Given the description of an element on the screen output the (x, y) to click on. 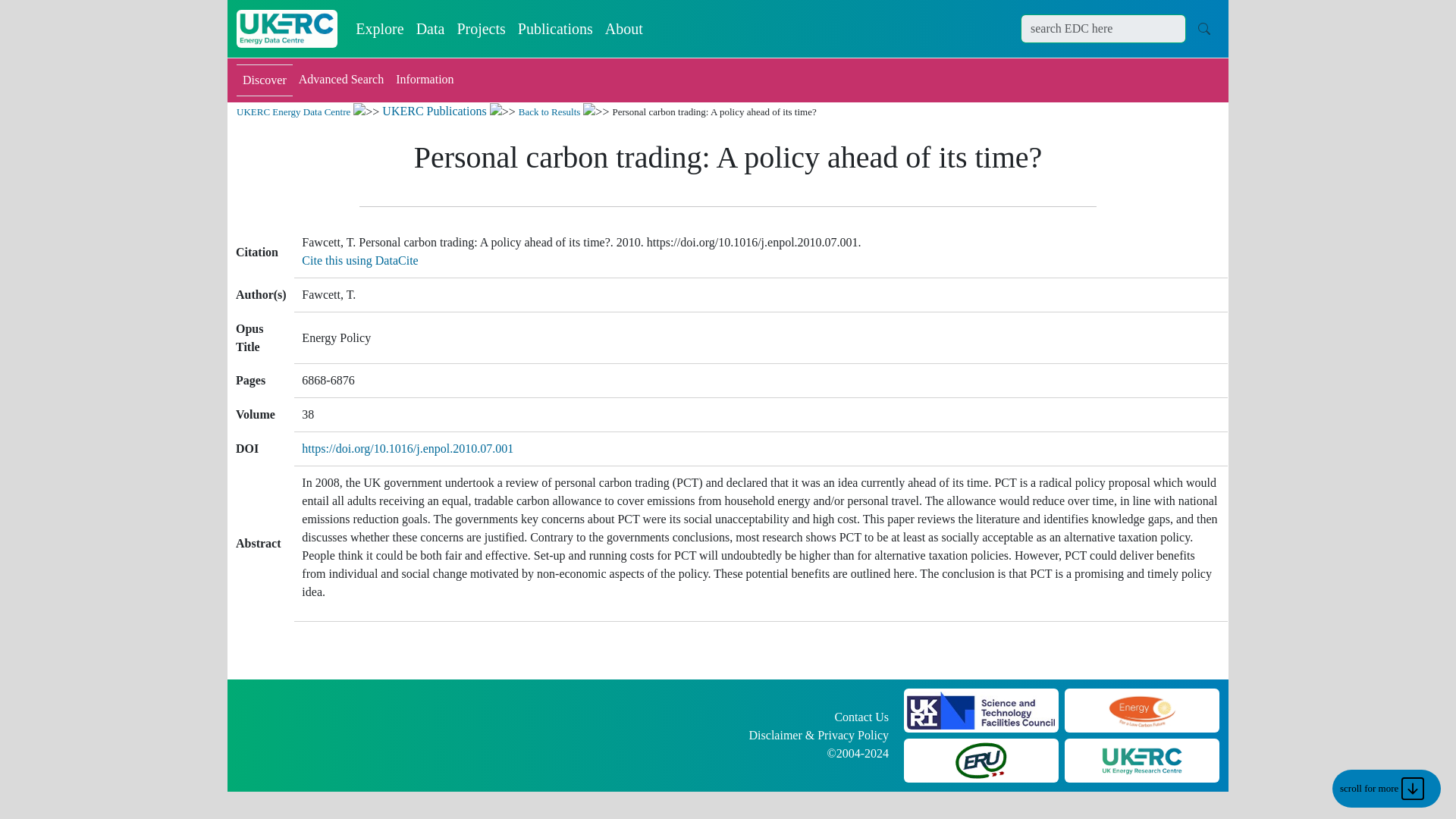
Explore (379, 28)
Information (425, 80)
Go (1204, 27)
Contact Us (861, 716)
Cite this using DataCite (359, 259)
Data (430, 28)
Advanced Search (341, 80)
Publications (555, 28)
Privacy Policy (852, 735)
Back to Results (549, 111)
UKERC Energy Data Centre (292, 111)
UKERC Publications (433, 110)
About (623, 28)
Projects (480, 28)
Discover (263, 80)
